Given the description of an element on the screen output the (x, y) to click on. 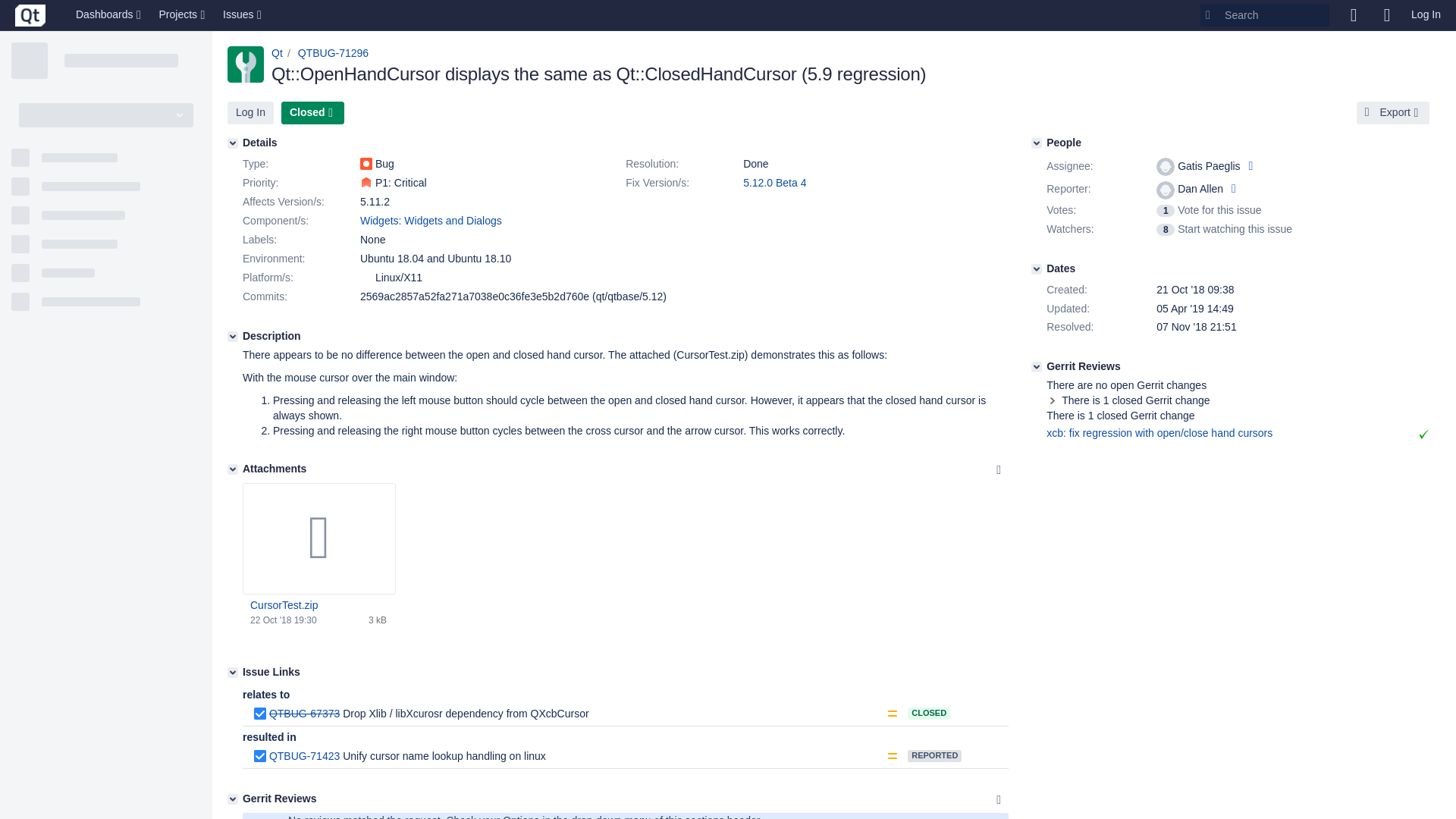
QTBUG-71423 (304, 756)
Search for issues and view recent issues (242, 15)
Qt (276, 52)
Search (1264, 15)
View and manage your dashboards (109, 15)
5.12.0 Beta 4 5.12.0 Beta 4 (774, 182)
Export this issue in another format (1392, 112)
Give feedback to Atlassian (1353, 15)
Log In (250, 112)
Help (1386, 15)
